Given the description of an element on the screen output the (x, y) to click on. 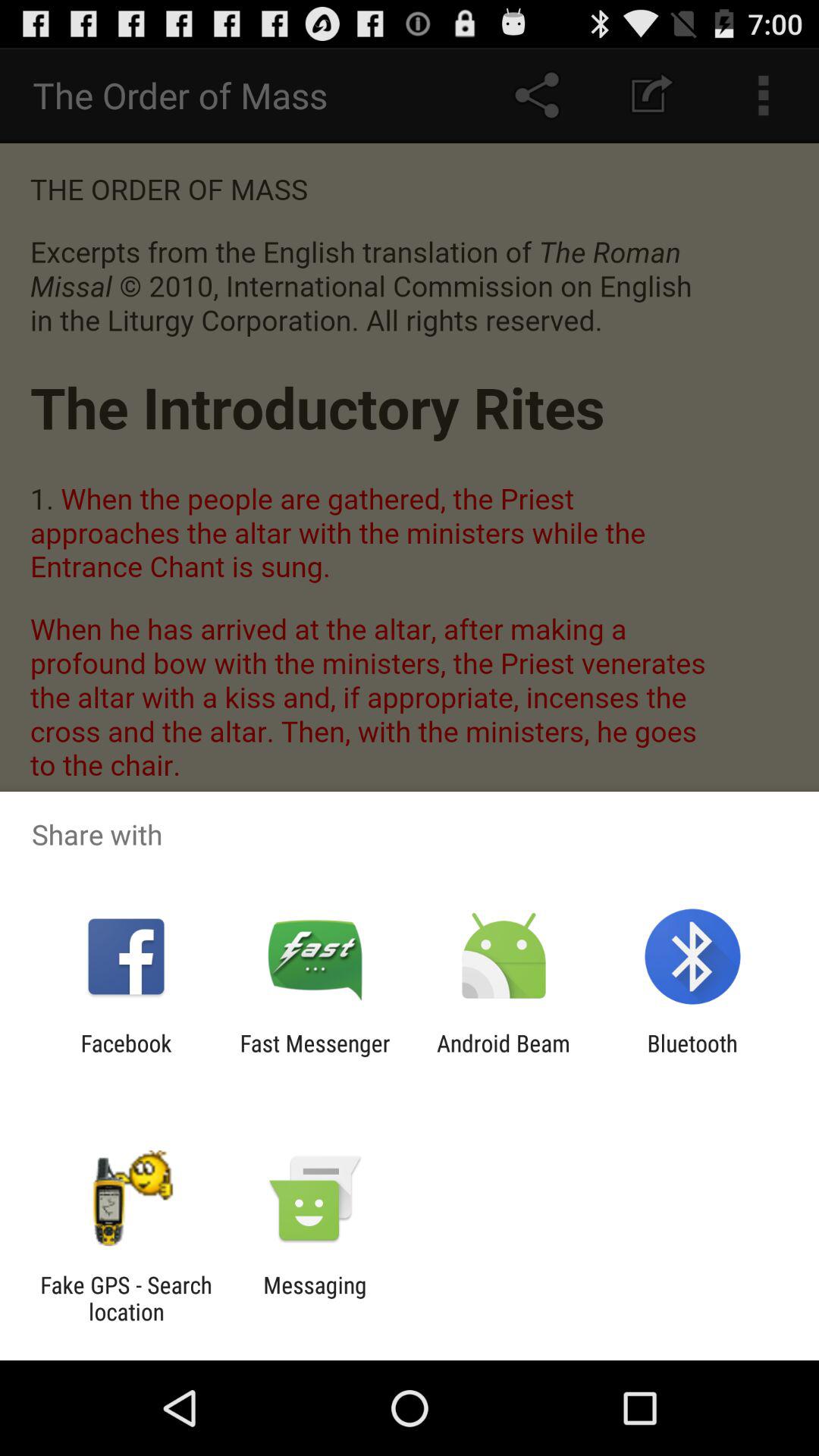
tap facebook icon (125, 1056)
